Given the description of an element on the screen output the (x, y) to click on. 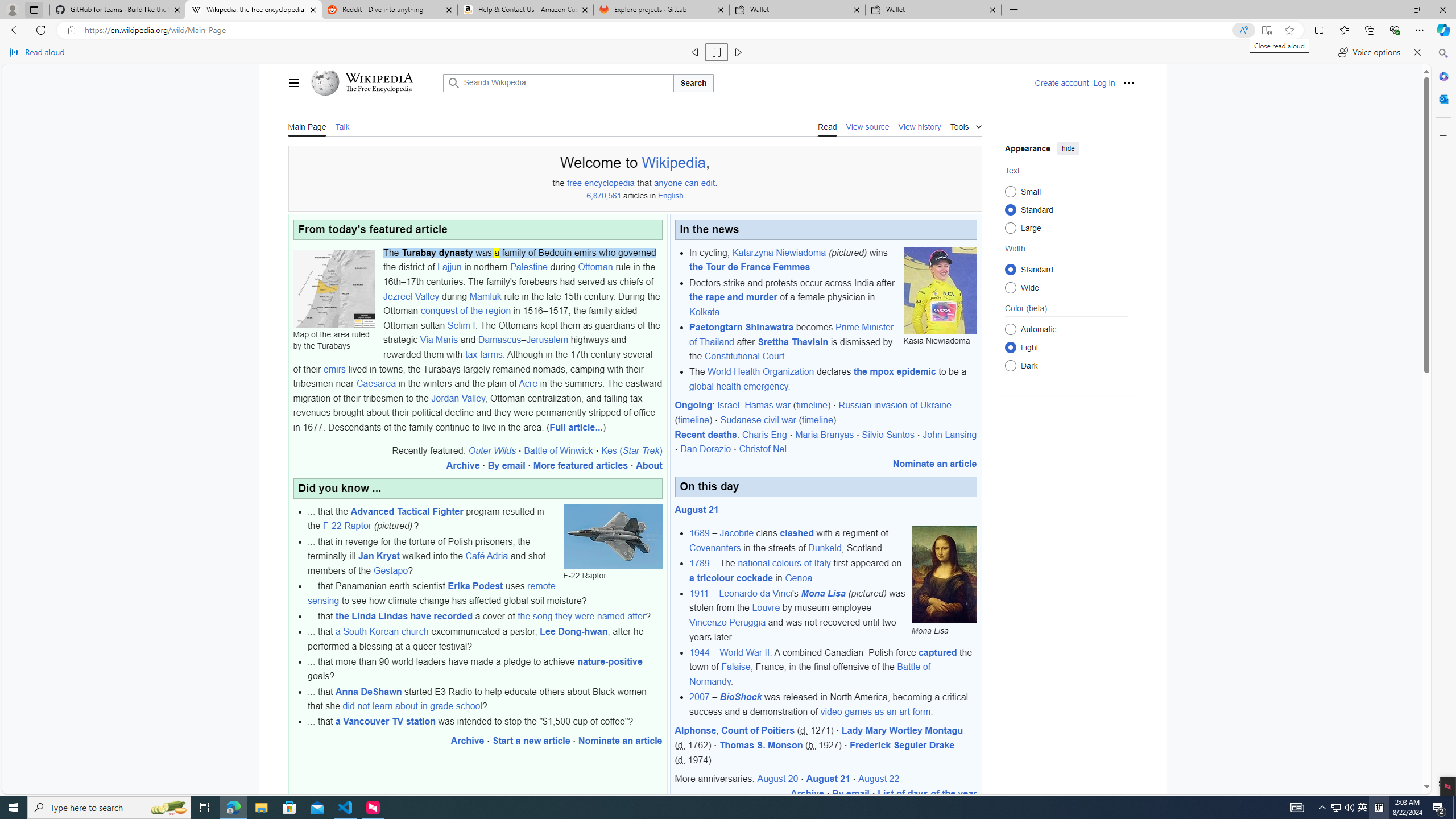
John Lansing (949, 434)
Dark (1010, 365)
timeline (816, 420)
Caesarea (376, 383)
F-22 Raptor (346, 525)
national colours of Italy (784, 563)
Kasia Niewiadoma (939, 290)
Class: mw-list-item mw-list-item-js (1066, 347)
